Given the description of an element on the screen output the (x, y) to click on. 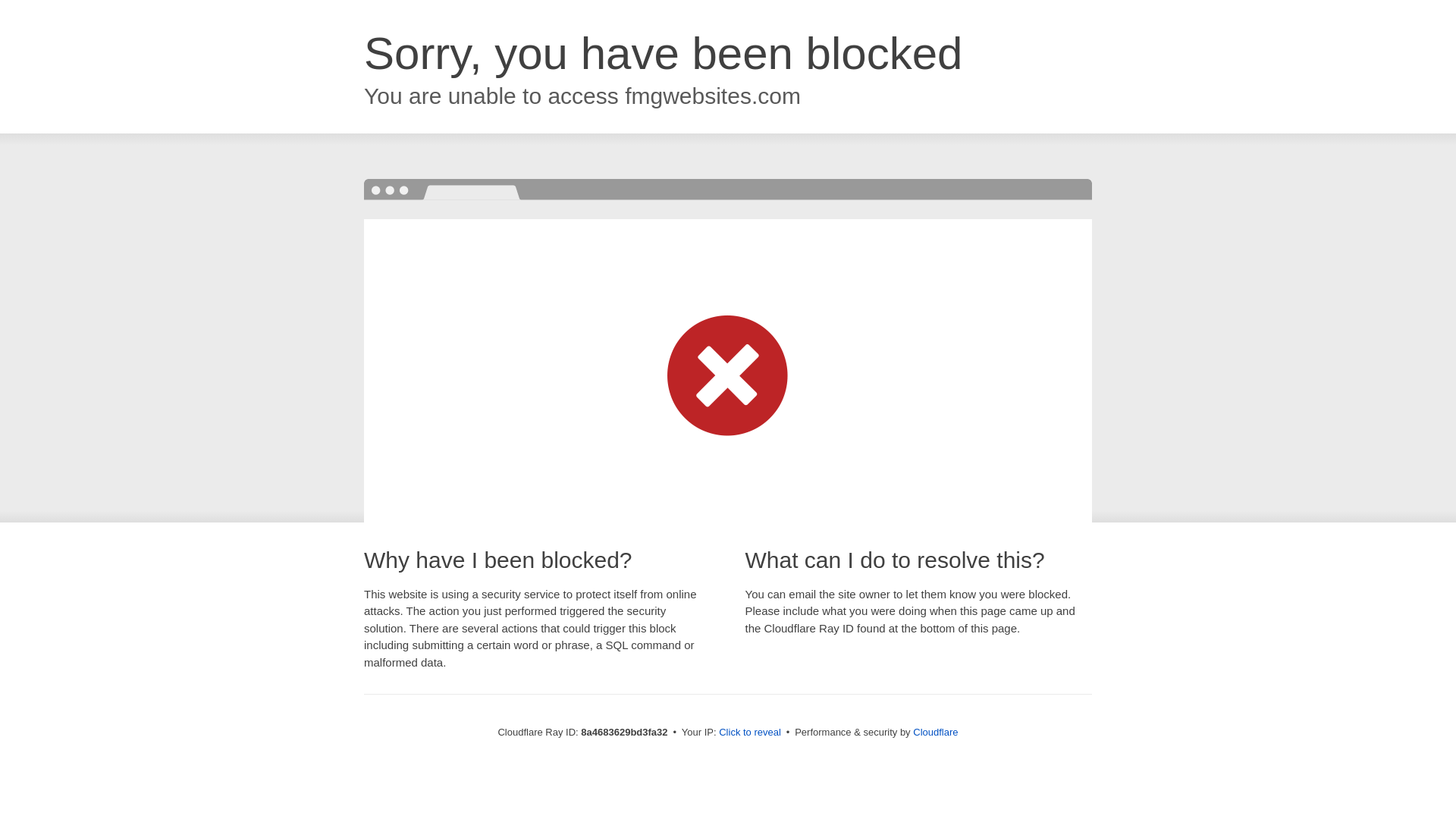
Cloudflare (935, 731)
Click to reveal (749, 732)
